Given the description of an element on the screen output the (x, y) to click on. 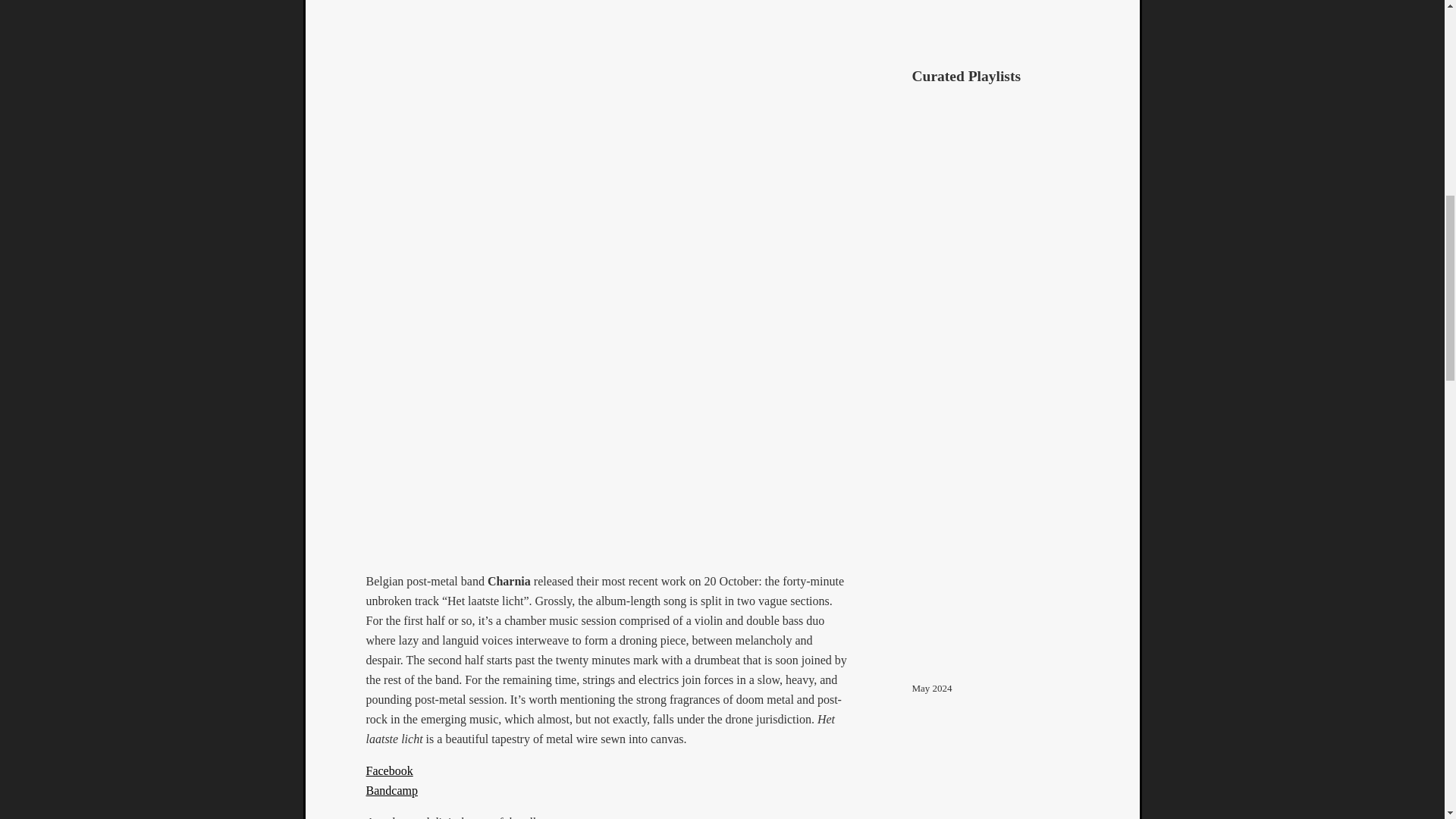
Facebook (388, 770)
Bandcamp (390, 789)
Spotify Embed: April 2024 CTEBCM (994, 769)
